Given the description of an element on the screen output the (x, y) to click on. 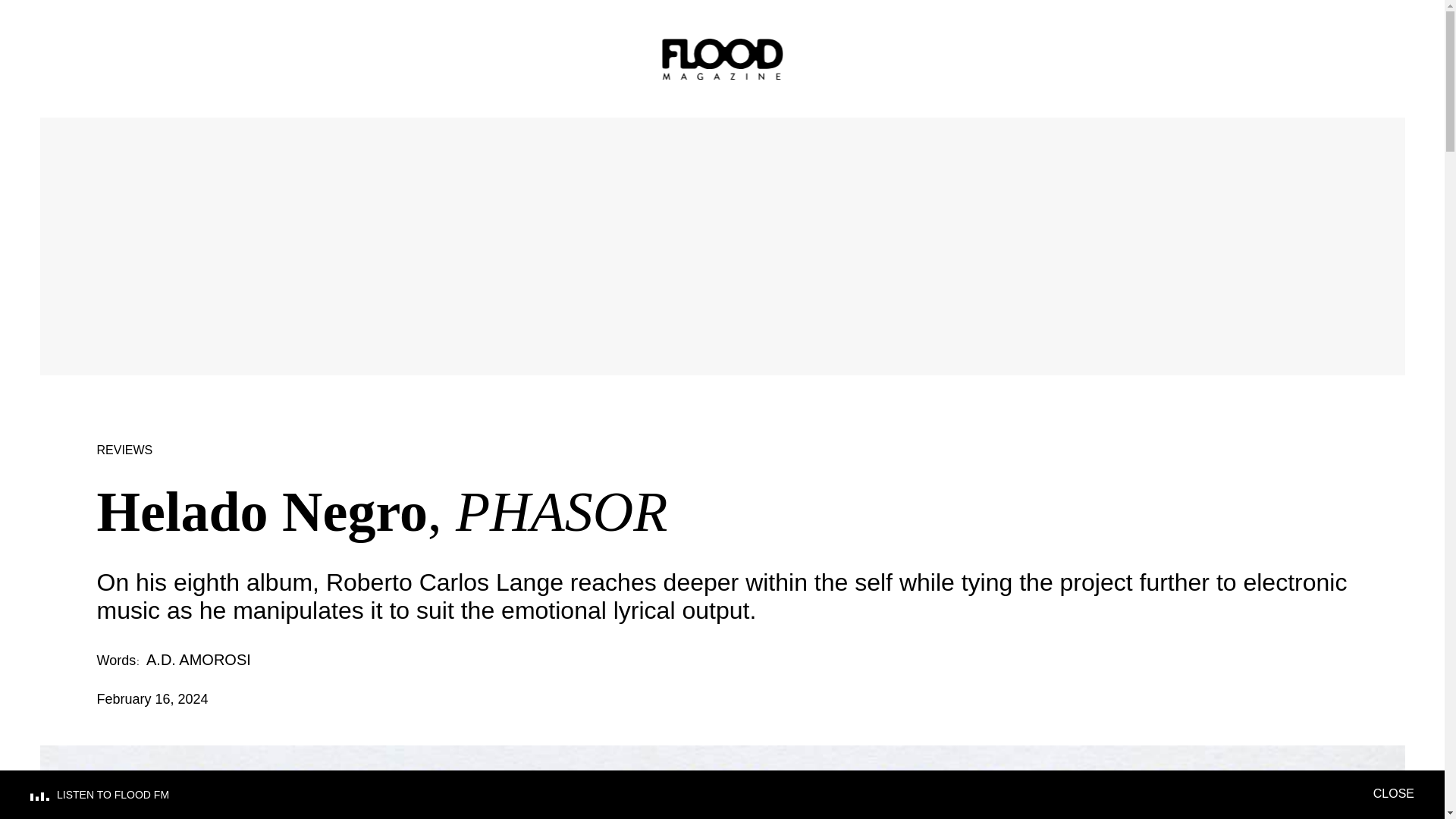
LISTEN TO FLOOD FM (701, 794)
A.D. AMOROSI (198, 659)
